Given the description of an element on the screen output the (x, y) to click on. 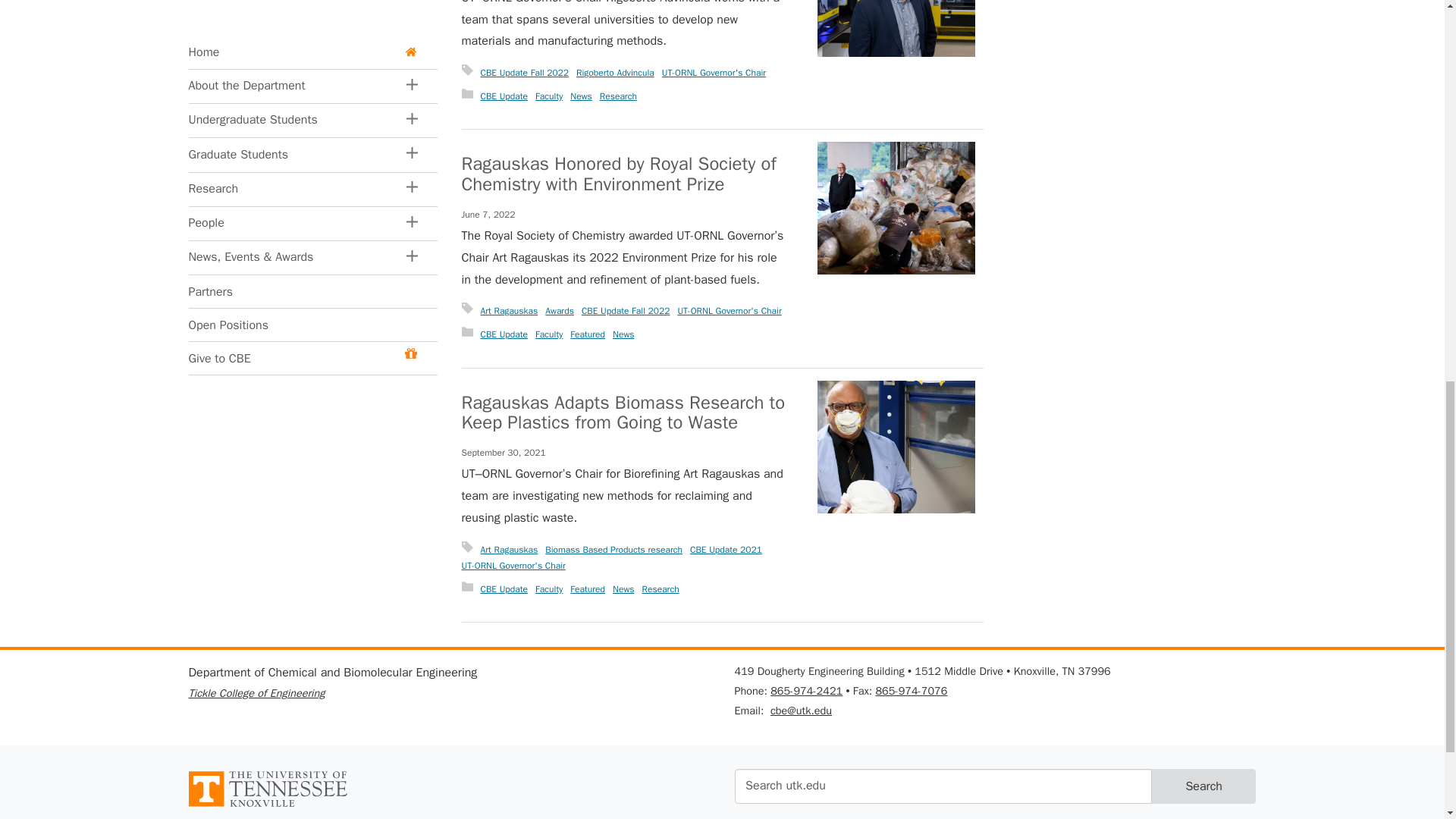
Submit (1203, 786)
search (942, 786)
Search (1203, 786)
Search utk.edu (942, 786)
